Given the description of an element on the screen output the (x, y) to click on. 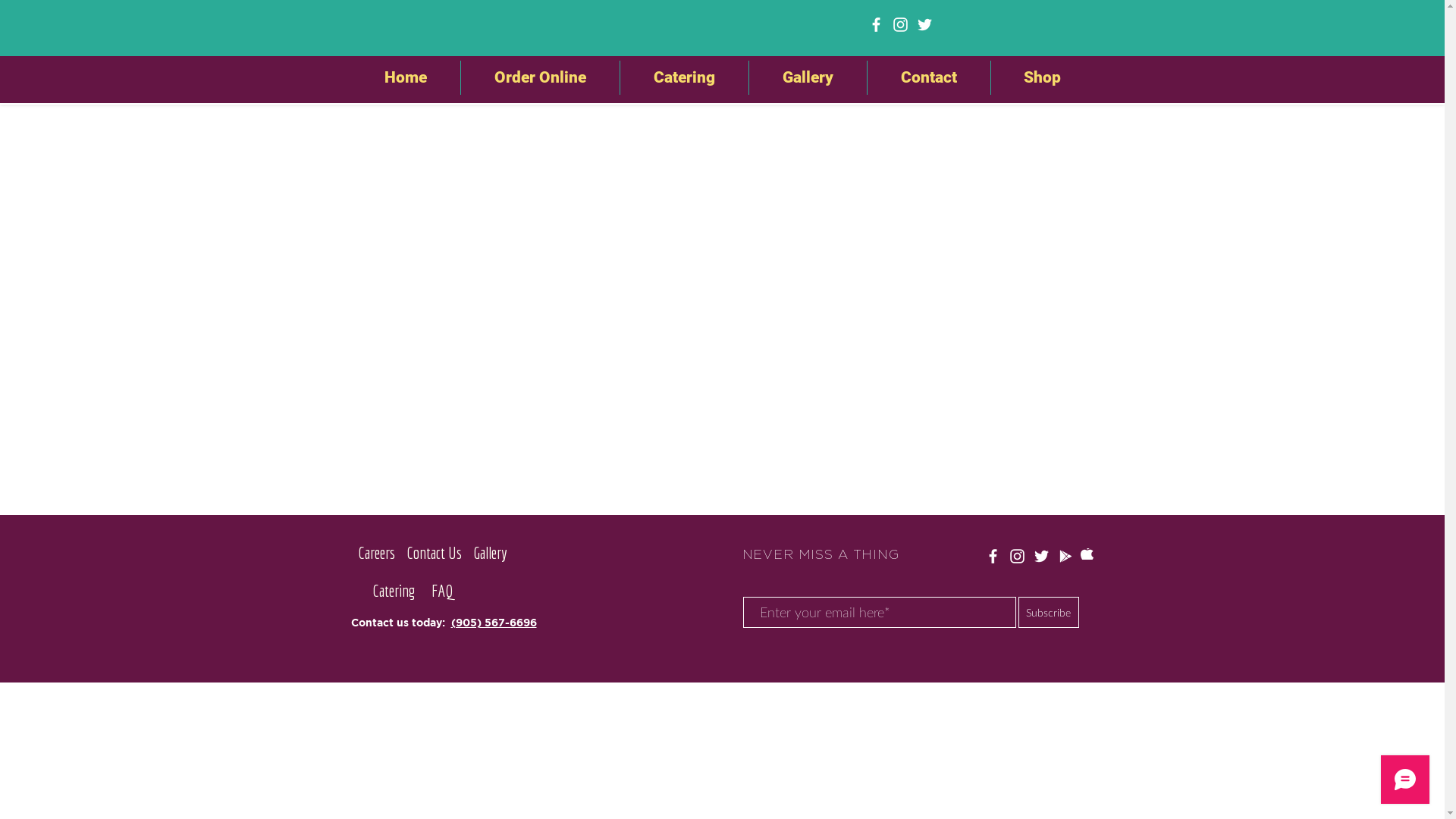
Contact Element type: text (928, 77)
Gallery Element type: text (807, 77)
Home Element type: text (404, 77)
Order Online Element type: text (540, 77)
Contact Us Element type: text (432, 552)
Catering Element type: text (684, 77)
Catering Element type: text (392, 590)
Shop Element type: text (1041, 77)
Careers Element type: text (375, 552)
Gallery Element type: text (490, 552)
Subscribe Element type: text (1047, 611)
FAQ Element type: text (442, 590)
